Given the description of an element on the screen output the (x, y) to click on. 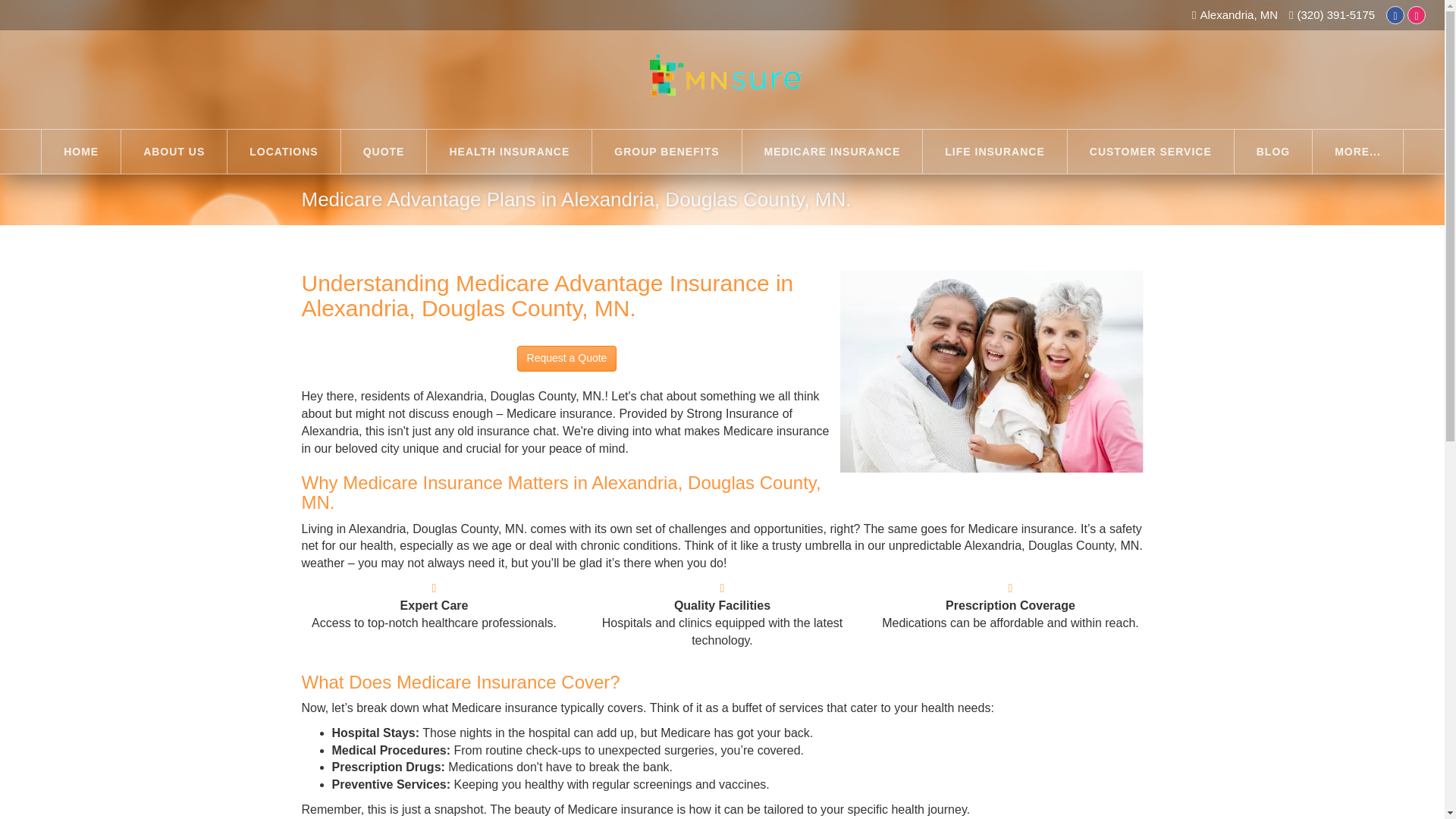
MEDICARE INSURANCE (832, 151)
ABOUT US (173, 151)
QUOTE (383, 151)
CUSTOMER SERVICE (1150, 151)
HEALTH INSURANCE (508, 151)
HOME (81, 151)
MORE... (1358, 151)
LIFE INSURANCE (994, 151)
GROUP BENEFITS (666, 151)
Request a Quote (566, 358)
LOCATIONS (283, 151)
BLOG (1272, 151)
